Given the description of an element on the screen output the (x, y) to click on. 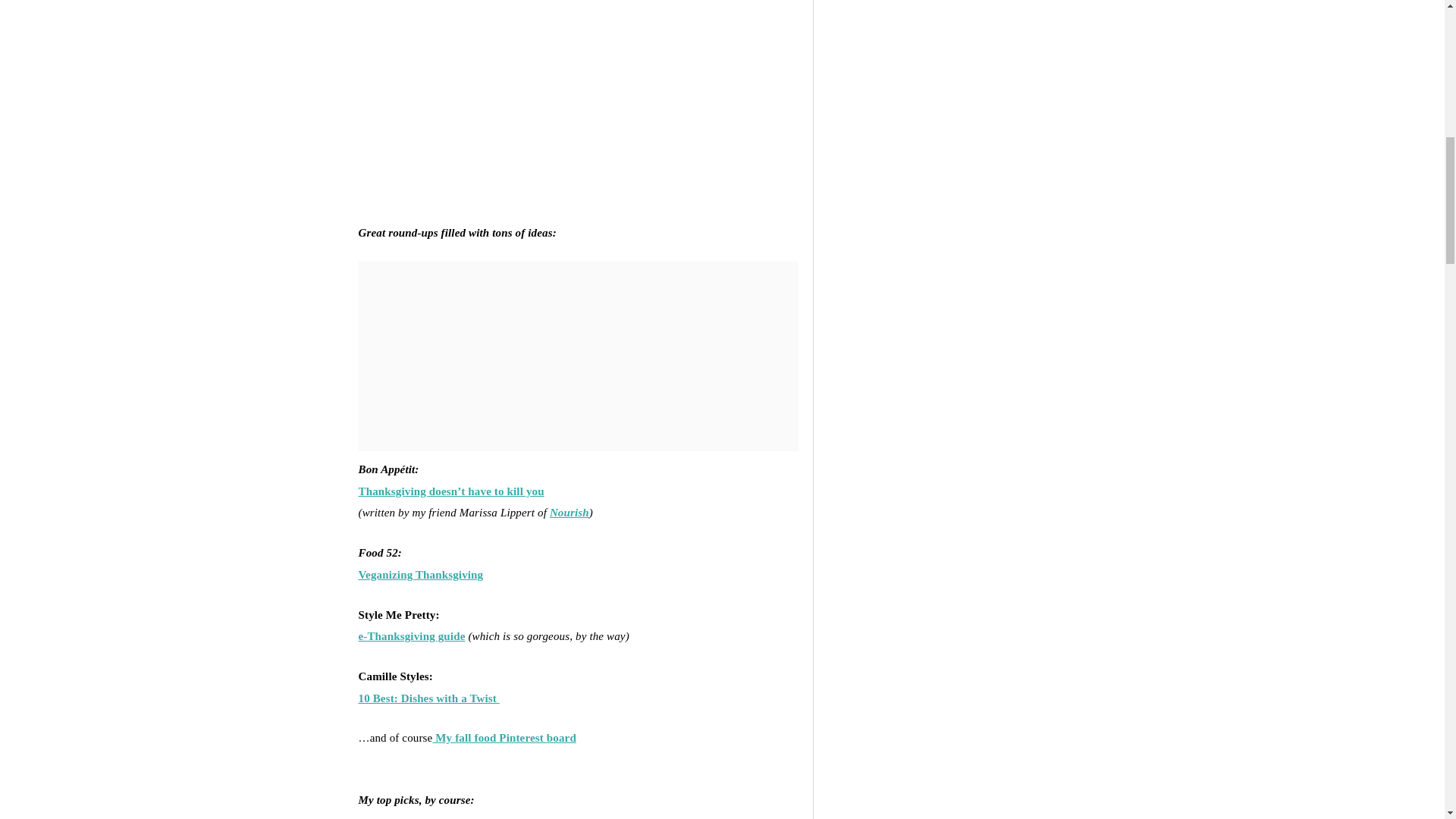
10 Best: Dishes with a Twist  (428, 698)
Veganizing Thanksgiving (420, 574)
e-Thanksgiving guide (411, 635)
 My fall food Pinterest board (503, 737)
Nourish (569, 512)
